Given the description of an element on the screen output the (x, y) to click on. 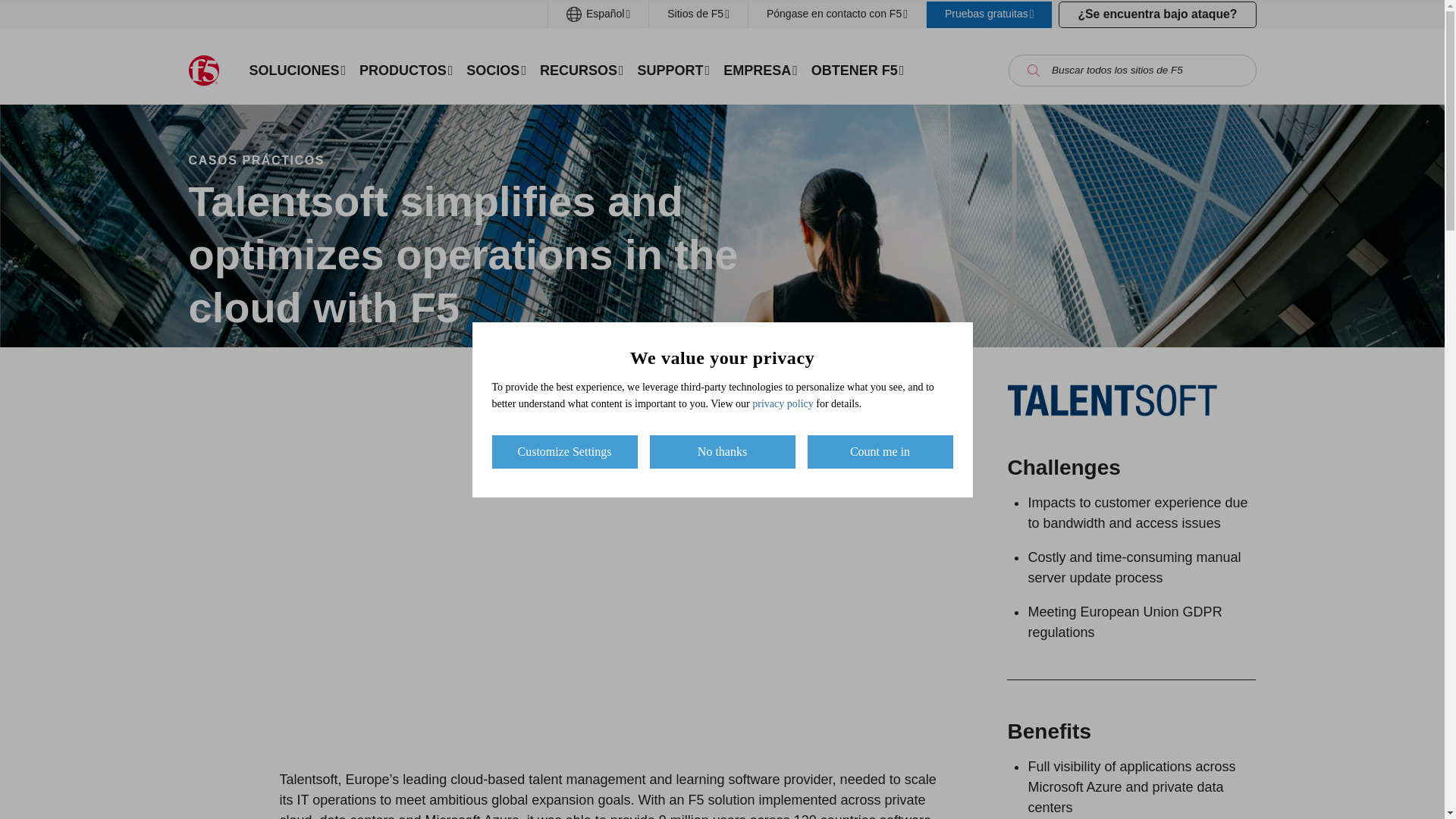
SOLUCIONES (298, 69)
Sitios de F5 (698, 13)
RECURSOS (581, 69)
SUPPORT (673, 69)
PRODUCTOS (406, 69)
OBTENER F5 (858, 69)
Pruebas gratuitas (989, 13)
F5 (202, 70)
SOCIOS (496, 69)
EMPRESA (760, 69)
